Given the description of an element on the screen output the (x, y) to click on. 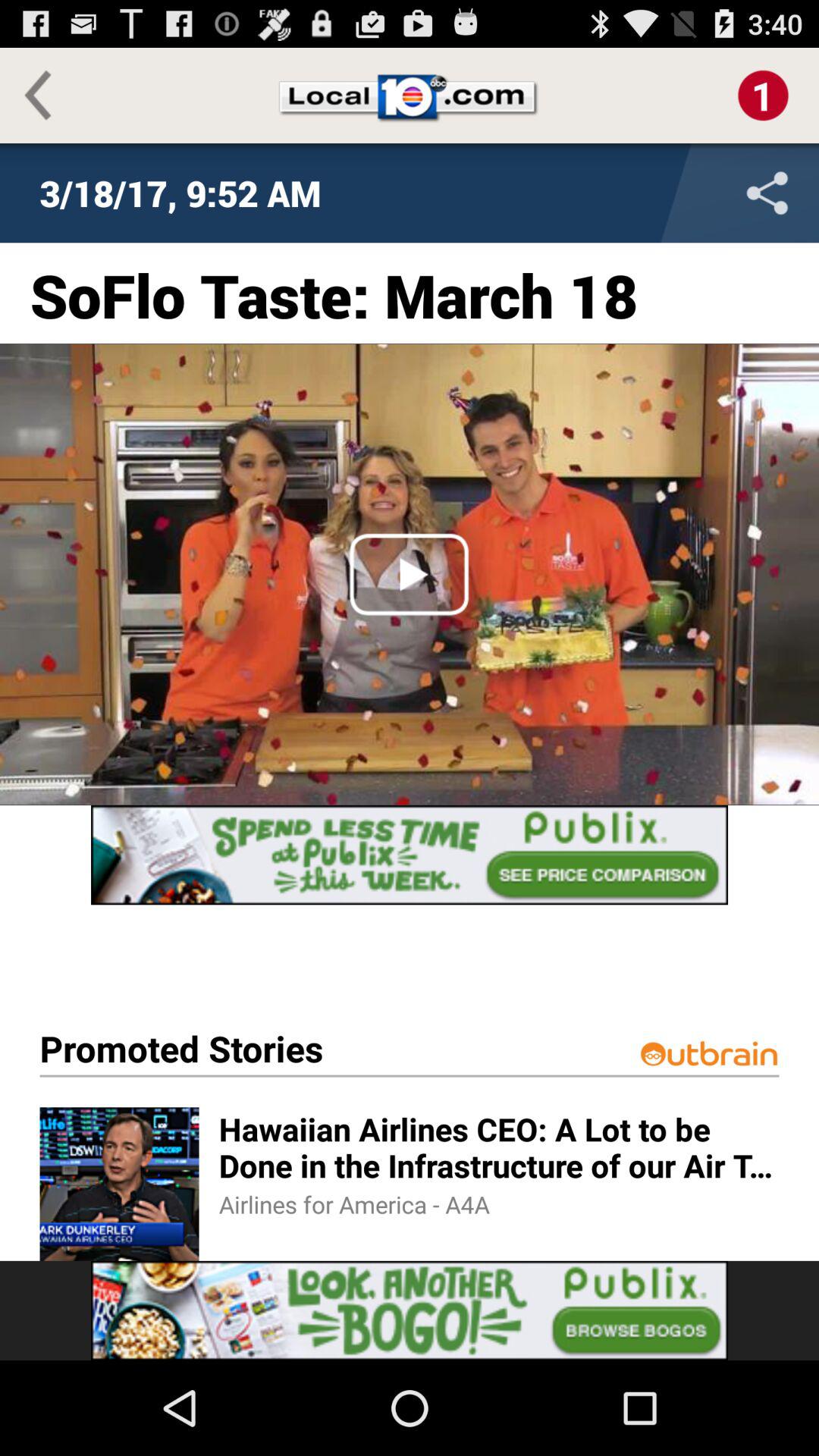
open news notifications (762, 95)
